Given the description of an element on the screen output the (x, y) to click on. 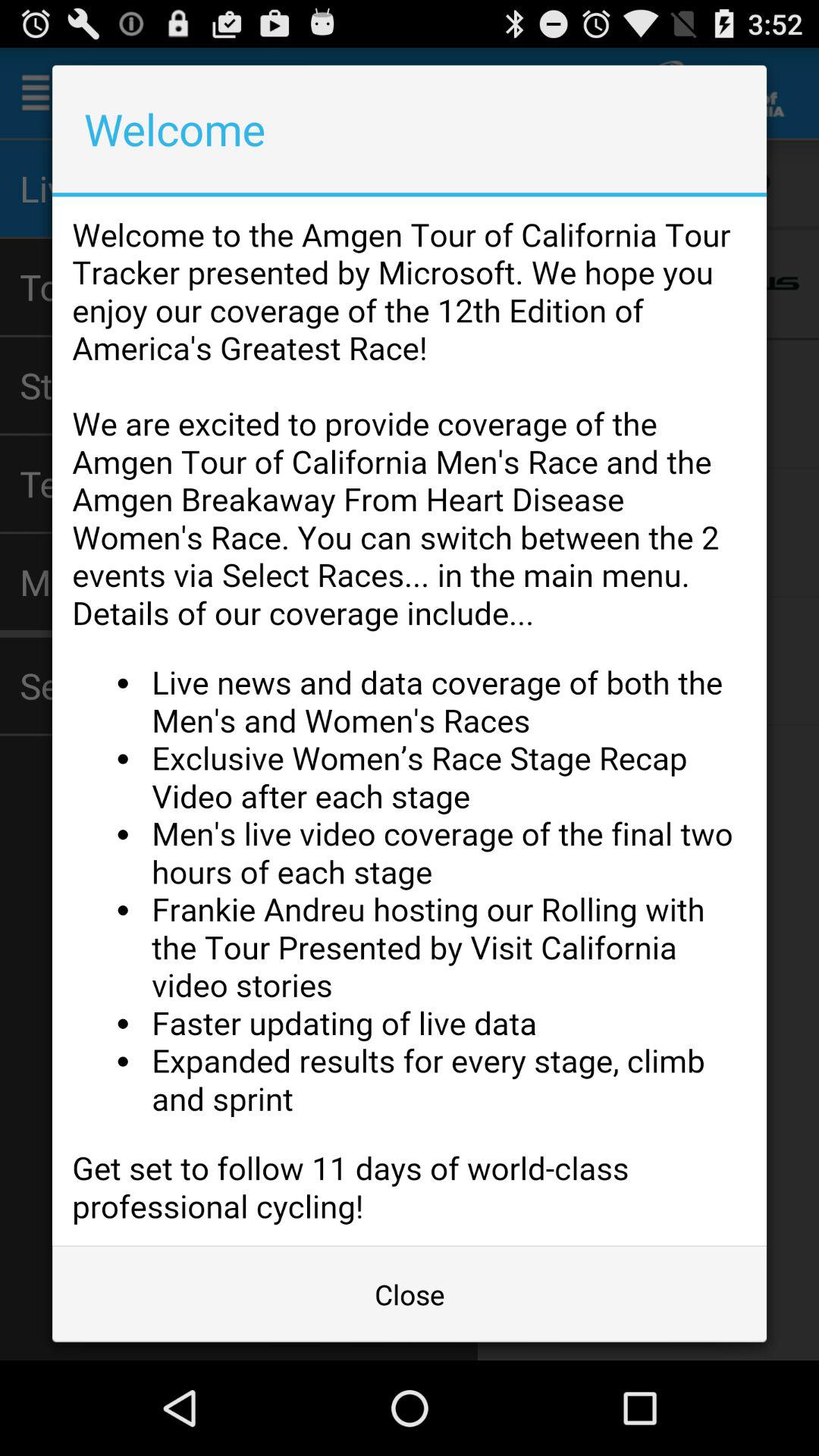
introduction (409, 720)
